Given the description of an element on the screen output the (x, y) to click on. 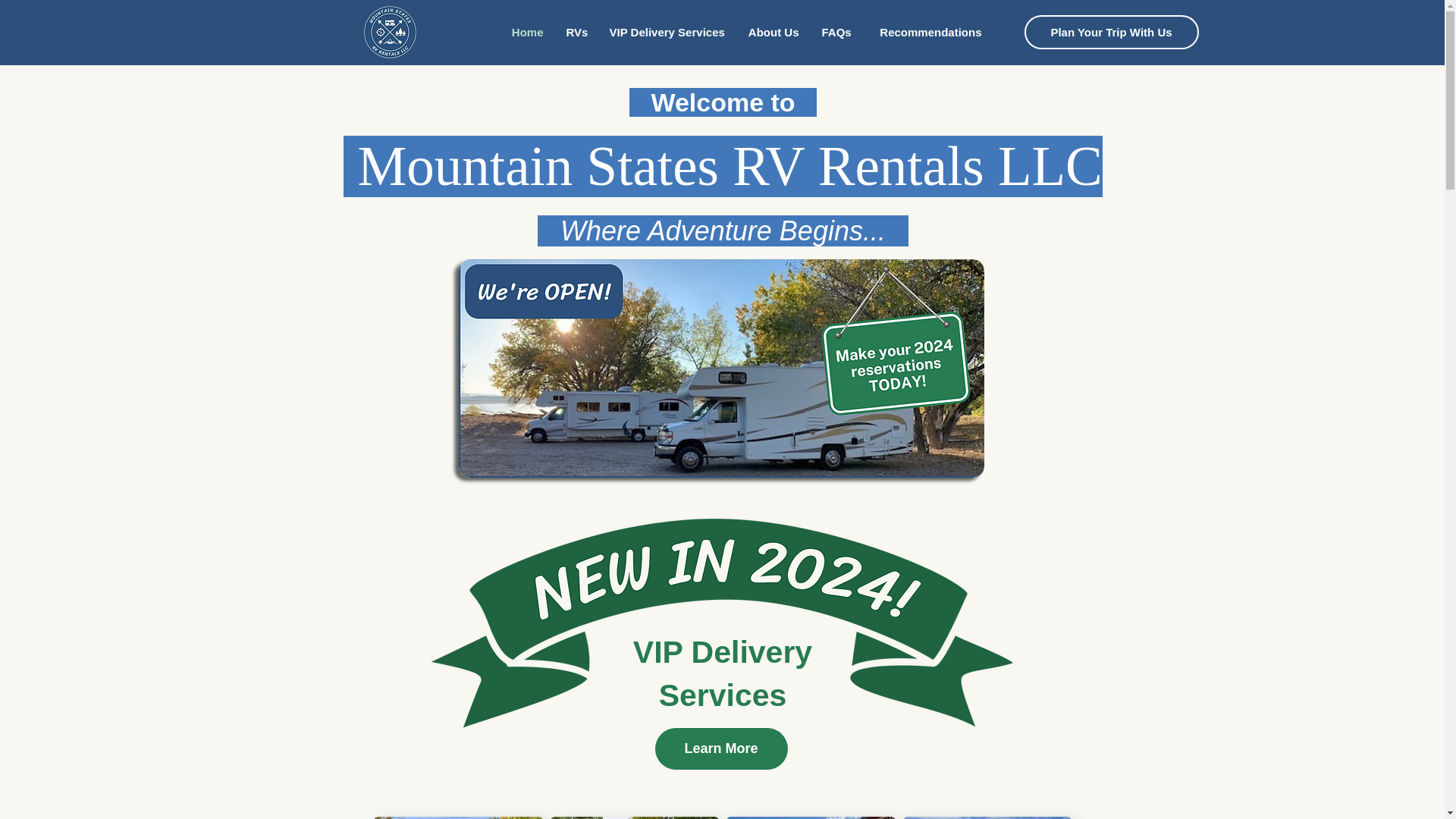
Plan Your Trip With Us (1110, 32)
FAQs (834, 32)
Learn More (721, 748)
VIP Delivery Services (665, 32)
Recommendations (926, 32)
RVs (576, 32)
Home (525, 32)
About Us (772, 32)
